Given the description of an element on the screen output the (x, y) to click on. 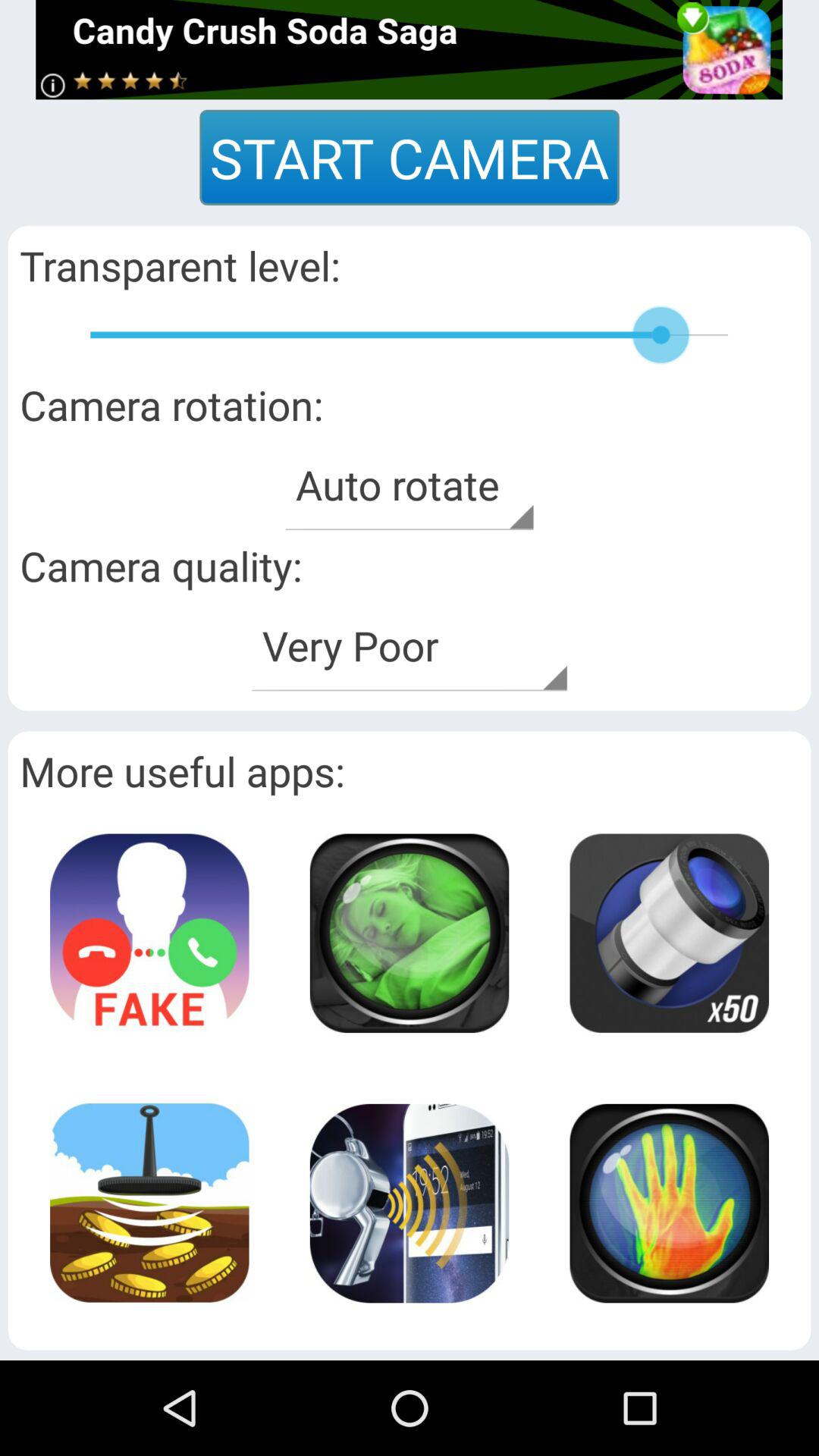
volume of mode (408, 1202)
